Given the description of an element on the screen output the (x, y) to click on. 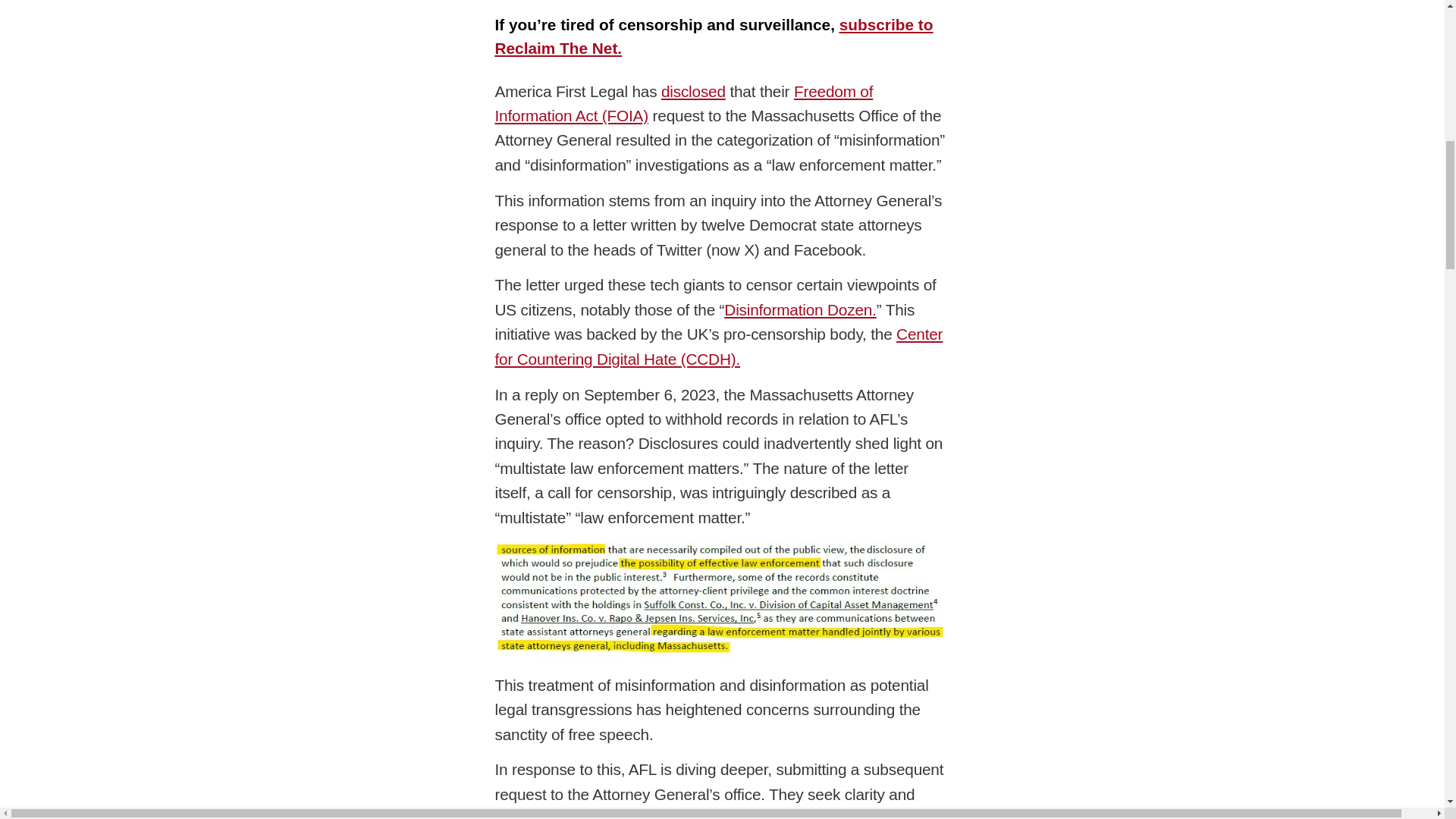
disclosed (693, 90)
Disinformation Dozen. (799, 309)
subscribe to Reclaim The Net. (714, 35)
